Given the description of an element on the screen output the (x, y) to click on. 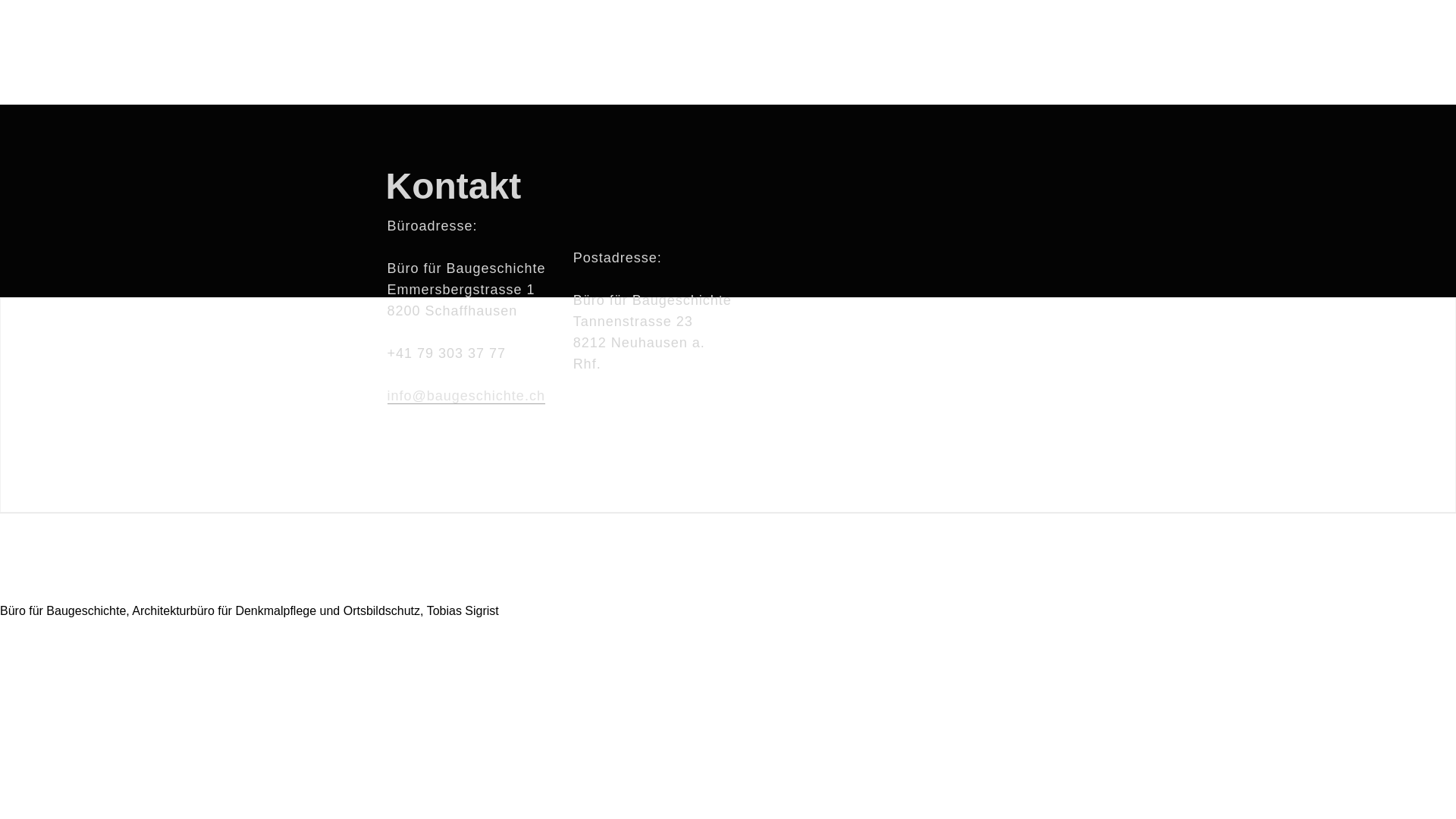
info@baugeschichte.ch Element type: text (465, 396)
